Given the description of an element on the screen output the (x, y) to click on. 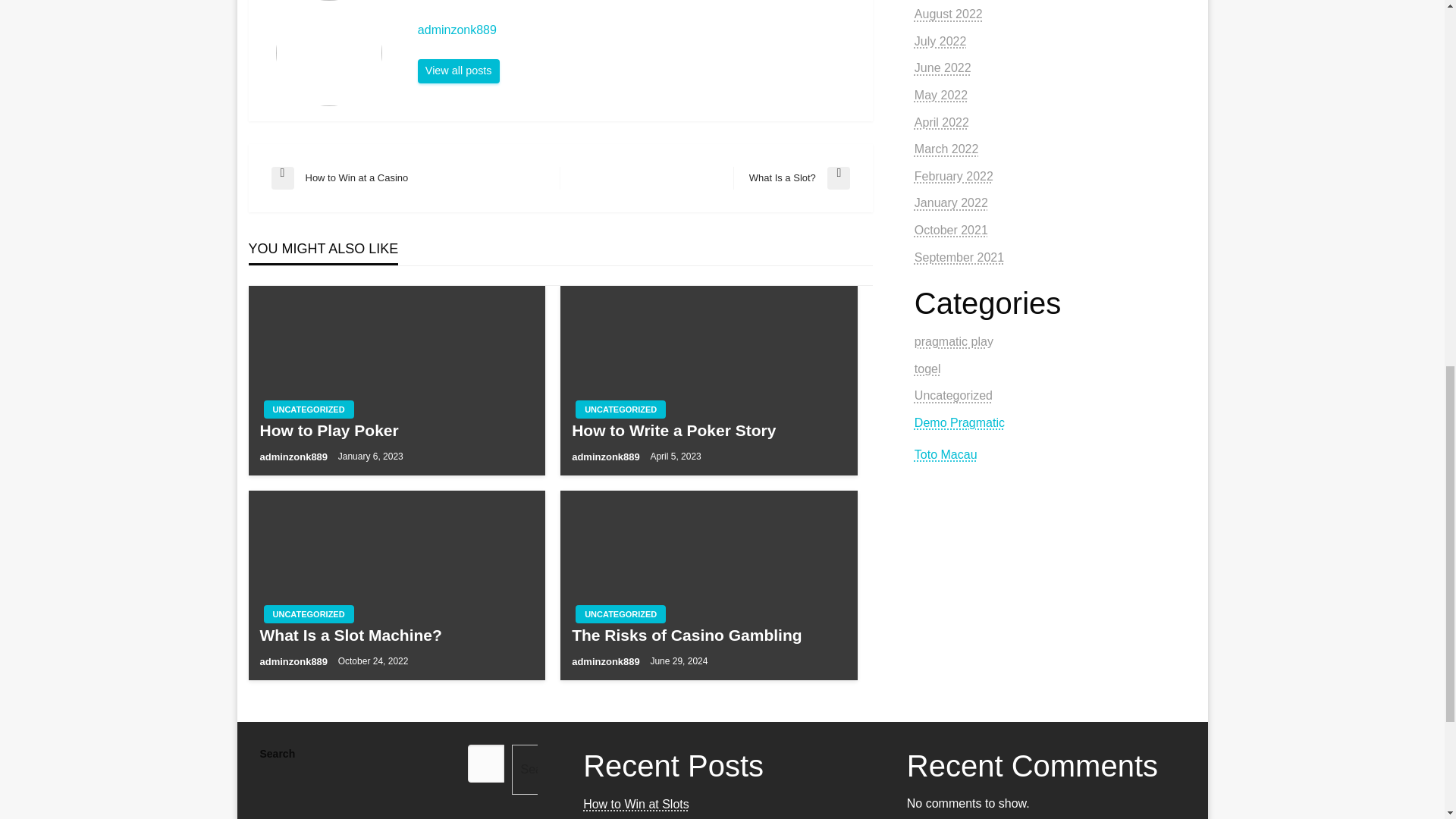
UNCATEGORIZED (791, 178)
adminzonk889 (308, 409)
adminzonk889 (458, 70)
What Is a Slot Machine? (294, 456)
UNCATEGORIZED (396, 635)
adminzonk889 (620, 614)
How to Play Poker (637, 29)
UNCATEGORIZED (415, 178)
